Given the description of an element on the screen output the (x, y) to click on. 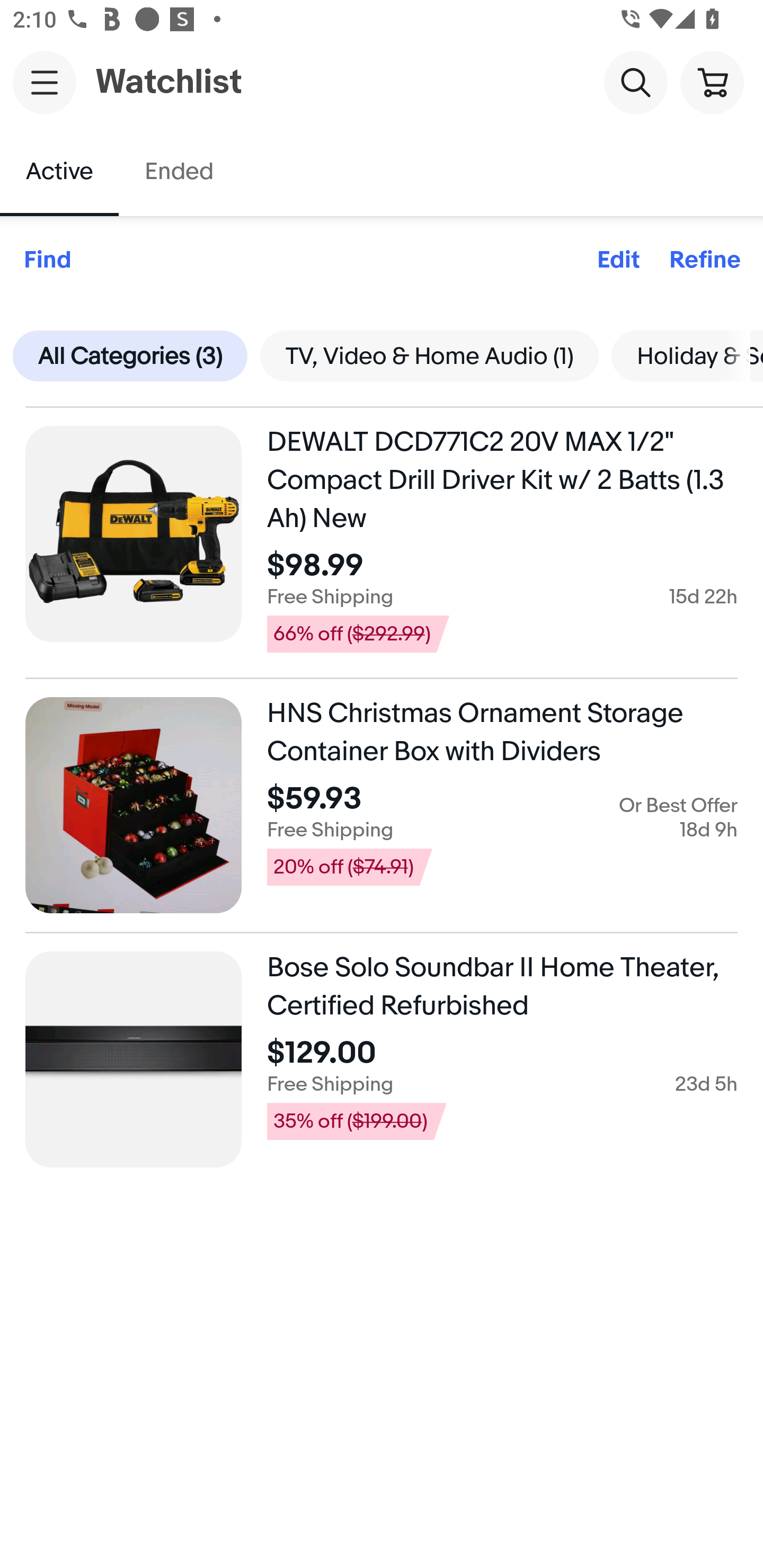
Main navigation, open (44, 82)
Search (635, 81)
Cart button shopping cart (711, 81)
Ended (178, 171)
Find Find in list (47, 260)
Edit Edit list (617, 260)
Refine Refine list (704, 260)
All Categories (3) (129, 355)
TV, Video & Home Audio (1) (429, 355)
